Given the description of an element on the screen output the (x, y) to click on. 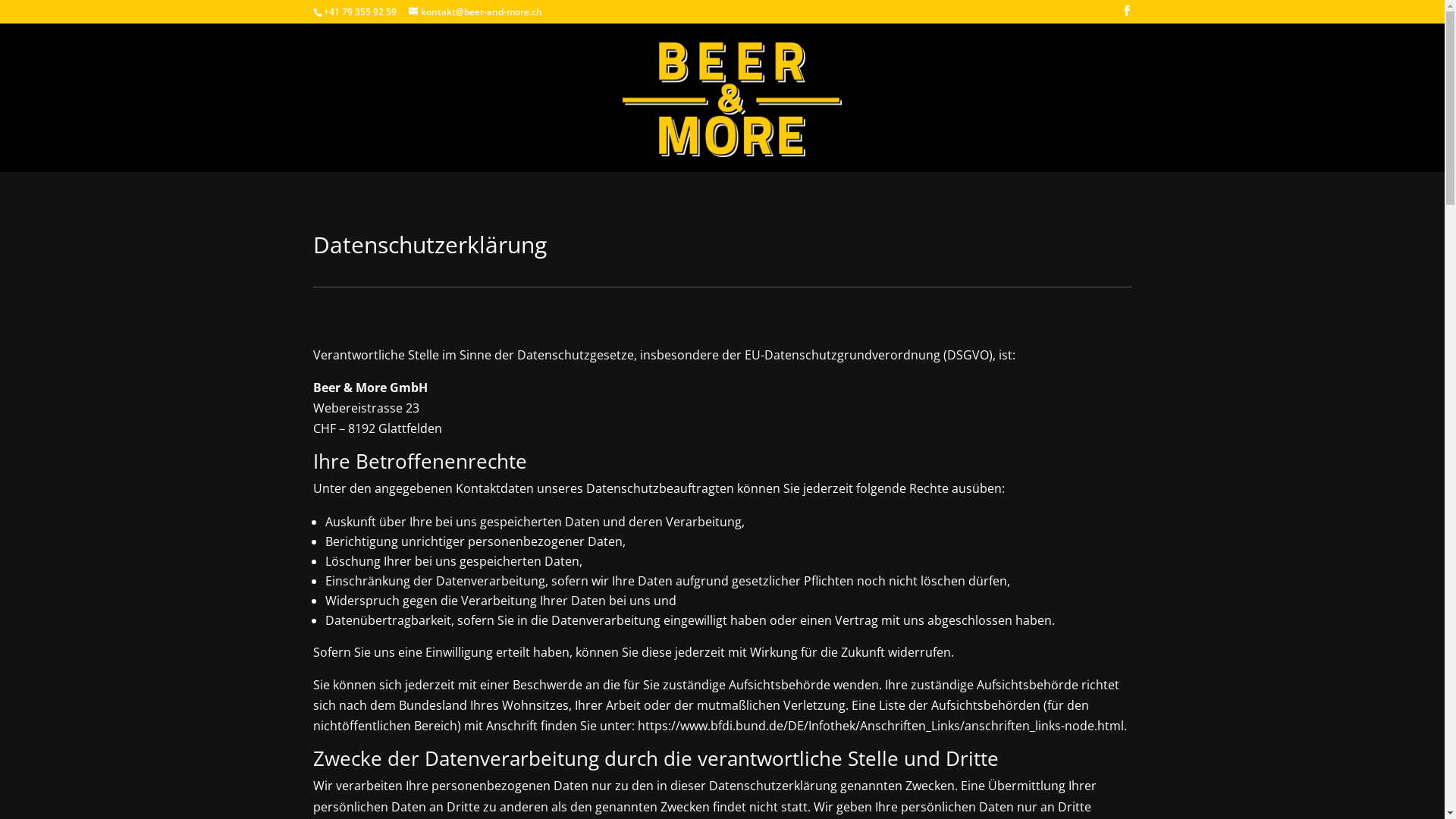
  Element type: text (597, 132)
kontakt@beer-and-more.ch Element type: text (474, 11)
